Given the description of an element on the screen output the (x, y) to click on. 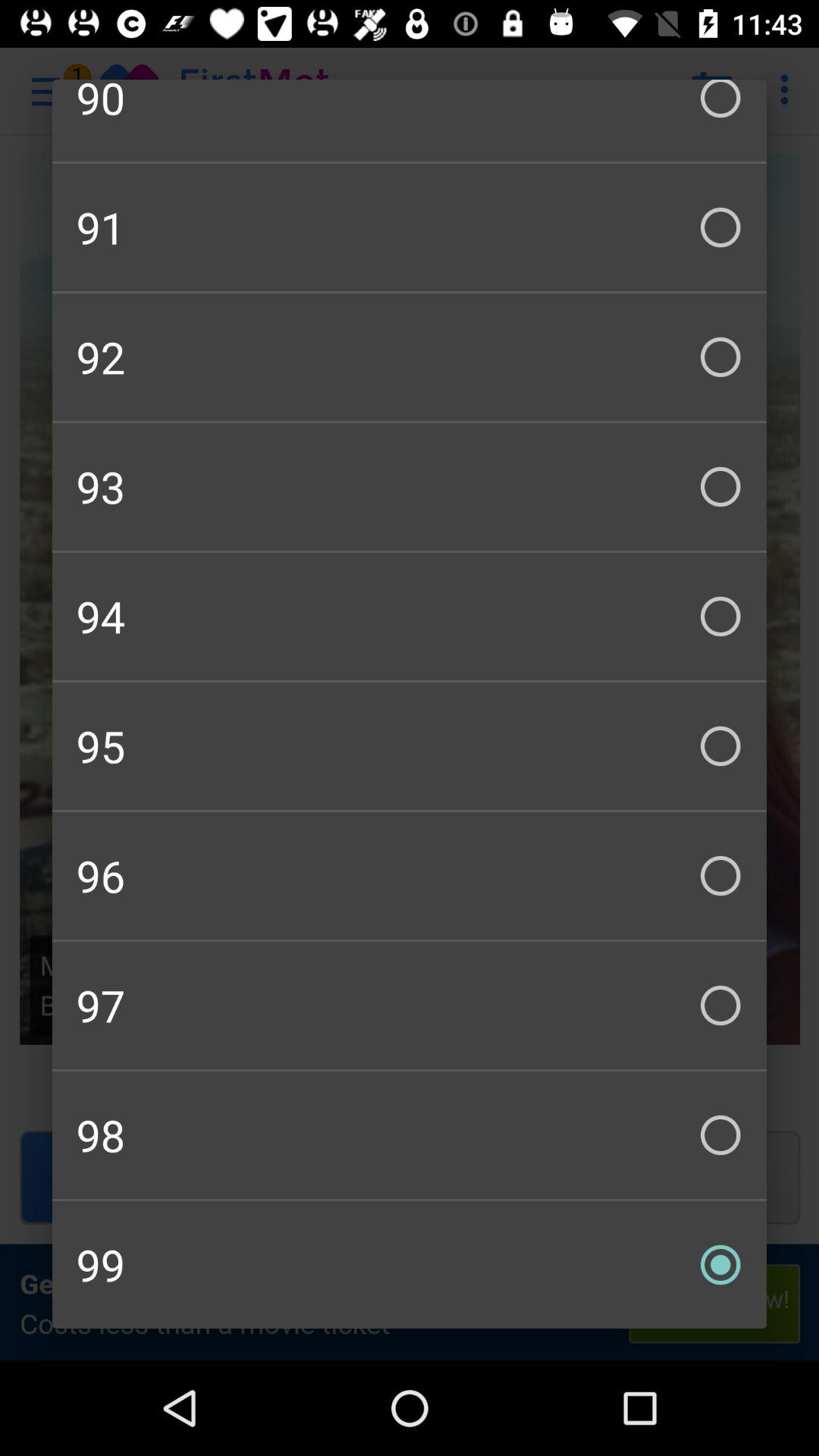
turn off the 94 checkbox (409, 616)
